Given the description of an element on the screen output the (x, y) to click on. 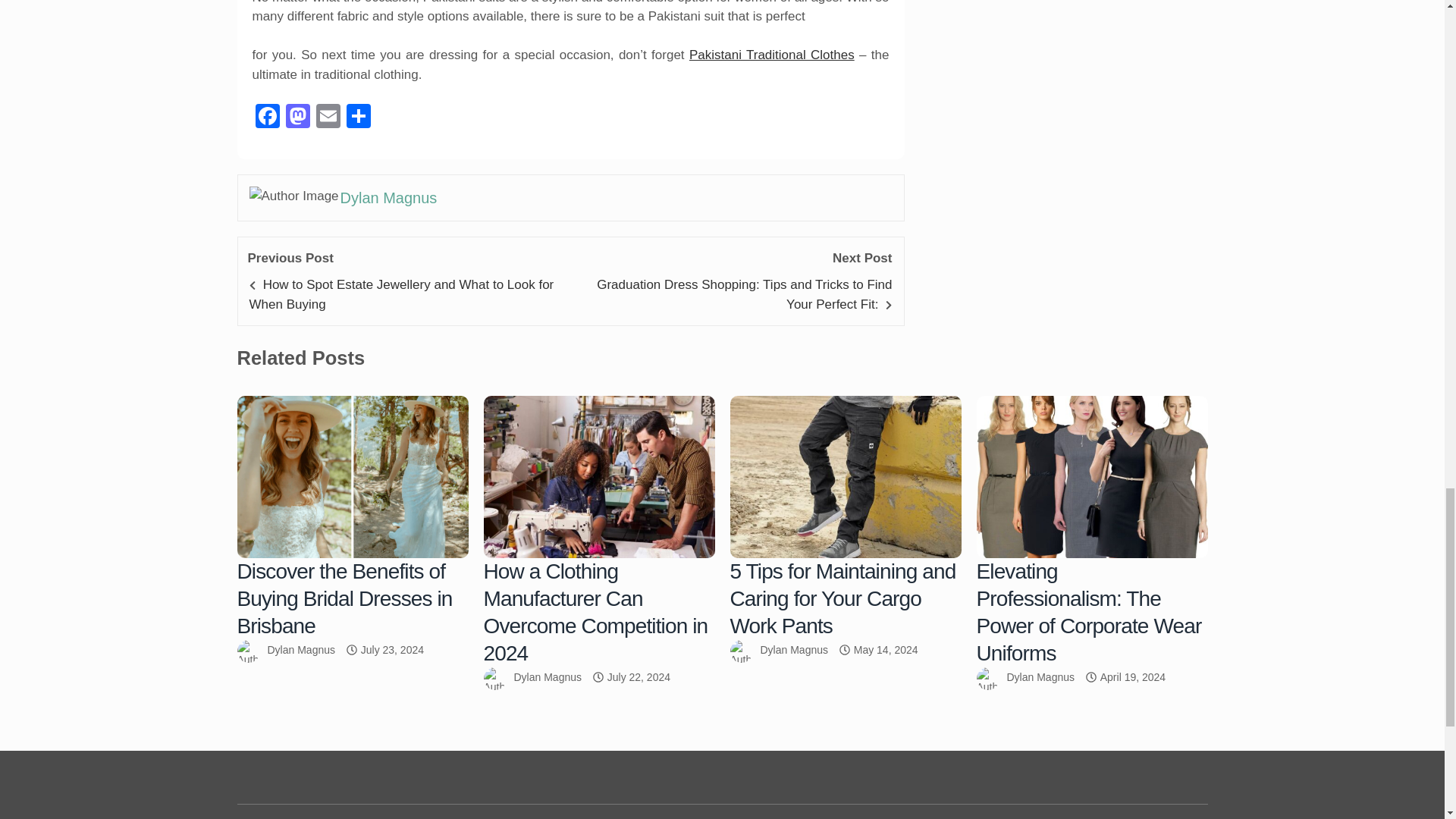
Facebook (266, 117)
Discover the Benefits of Buying Bridal Dresses in Brisbane (343, 598)
Email (327, 117)
Mastodon (297, 117)
Facebook (266, 117)
How a Clothing Manufacturer Can Overcome Competition in 2024 (598, 476)
Mastodon (297, 117)
Pakistani Traditional Clothes (771, 54)
Email (327, 117)
Discover the Benefits of Buying Bridal Dresses in Brisbane (351, 476)
5 Tips for Maintaining and Caring for Your Cargo Work Pants (844, 476)
Author Image (293, 196)
